Given the description of an element on the screen output the (x, y) to click on. 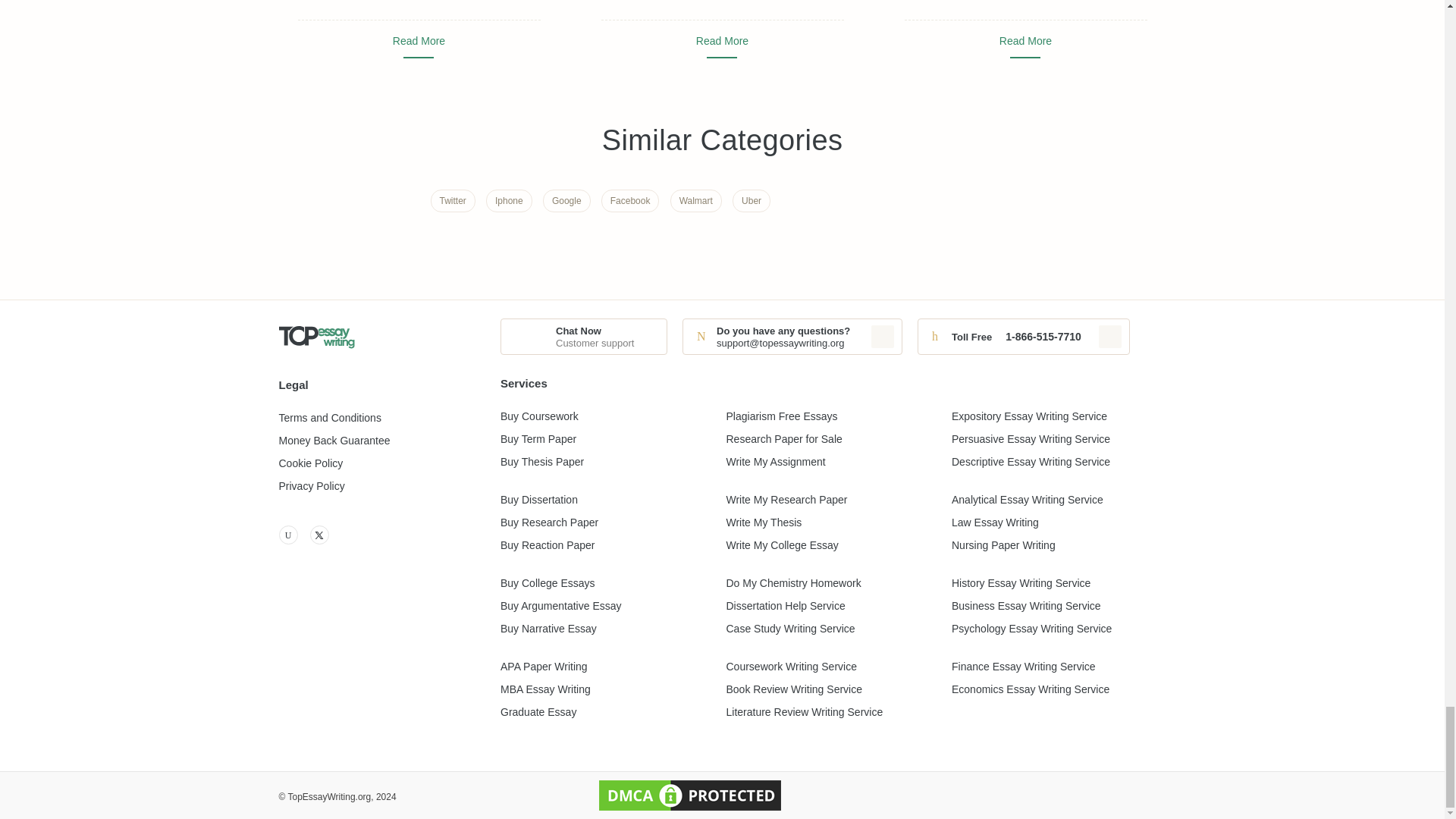
Copied to clipboard (1110, 336)
DMCA.com Protection Status (689, 795)
Copied to clipboard (881, 336)
